Given the description of an element on the screen output the (x, y) to click on. 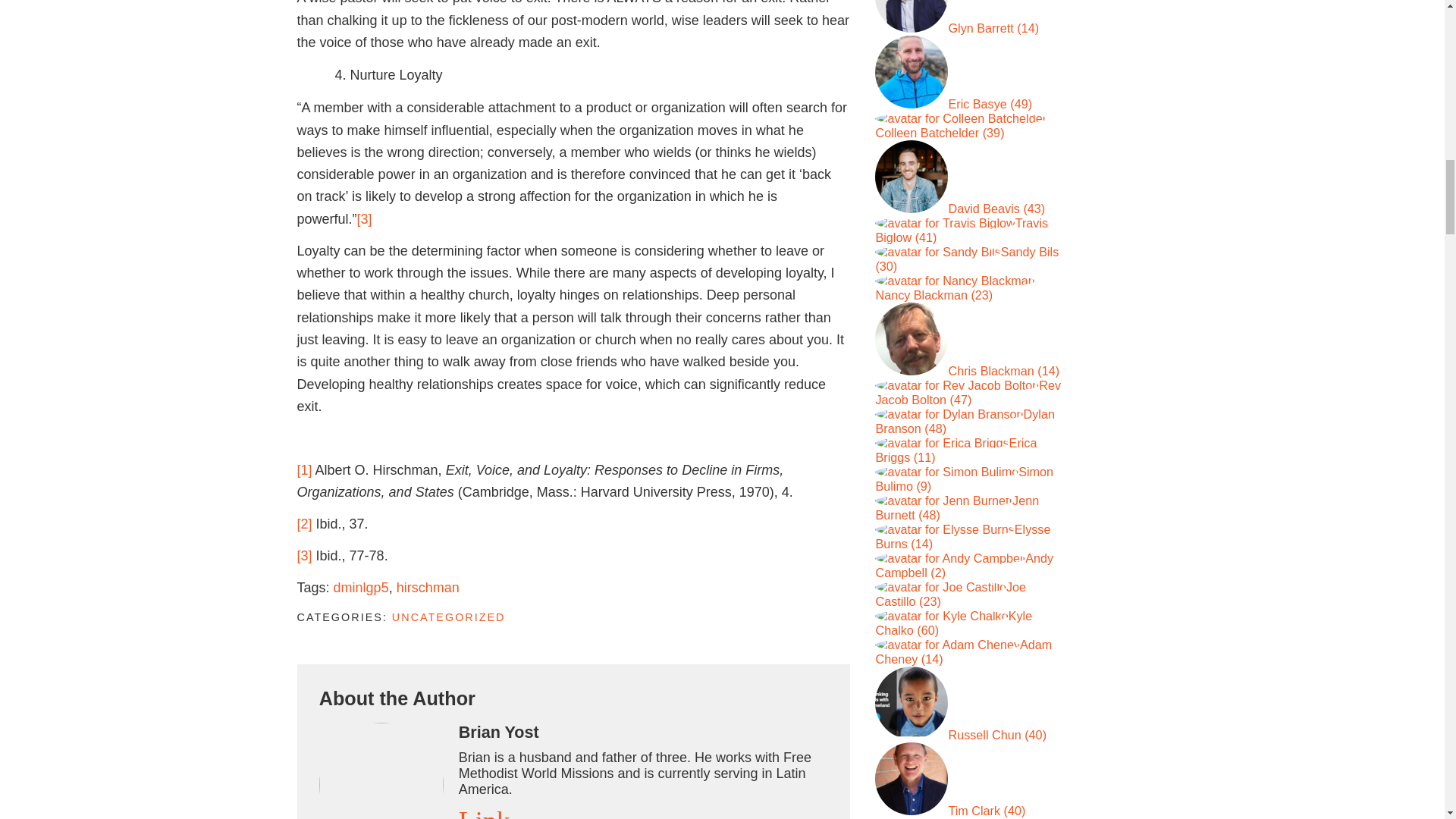
UNCATEGORIZED (448, 616)
Link (484, 812)
hirschman (428, 587)
dminlgp5 (360, 587)
